Given the description of an element on the screen output the (x, y) to click on. 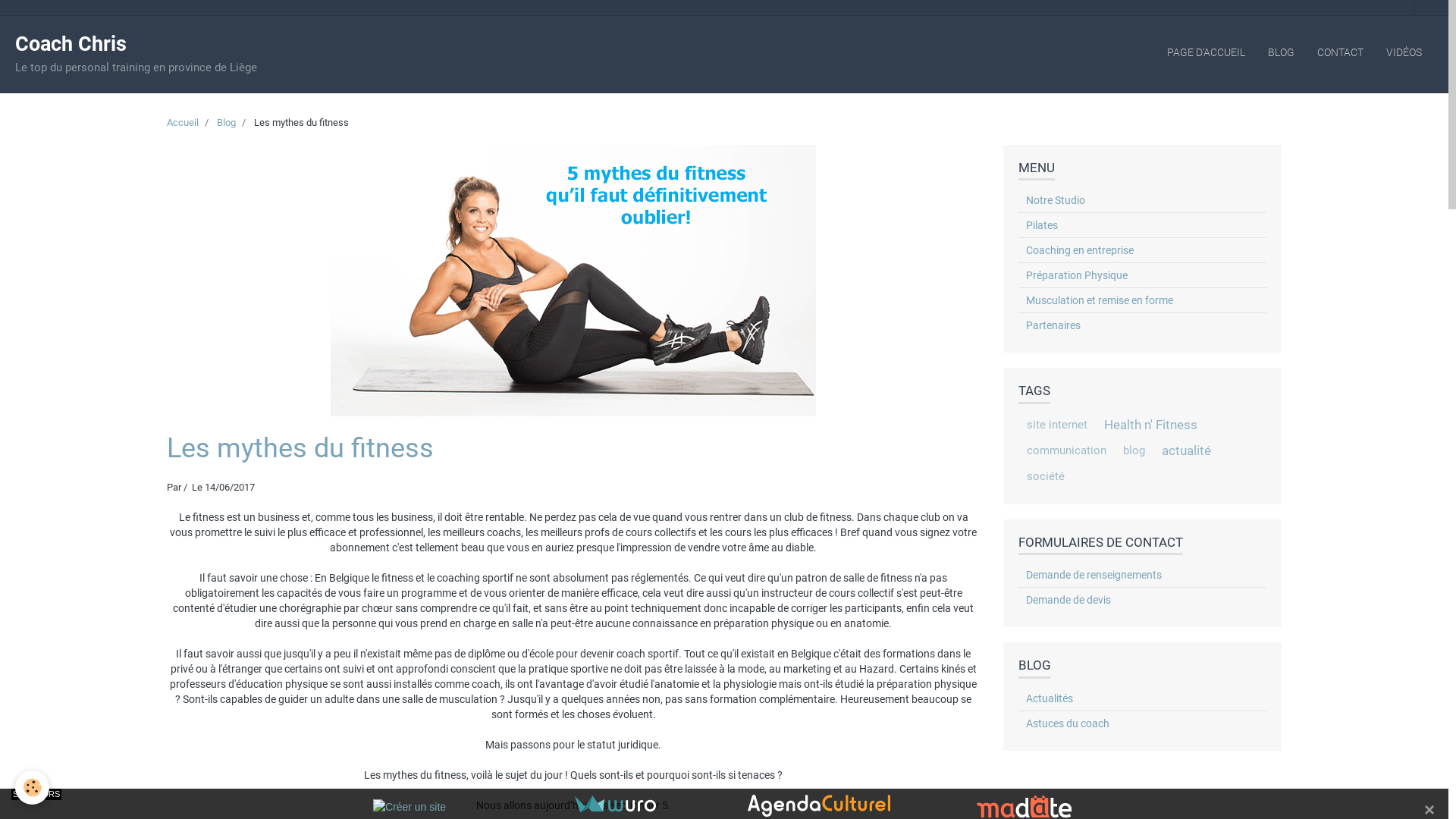
Demande de renseignements Element type: text (1141, 574)
Astuces du coach Element type: text (1141, 723)
Accueil Element type: text (182, 122)
Notre Studio Element type: text (1141, 200)
site internet Element type: text (1056, 424)
Musculation et remise en forme Element type: text (1141, 300)
PAGE D'ACCUEIL Element type: text (1205, 52)
Madate Element type: hover (1023, 805)
Coaching en entreprise Element type: text (1141, 250)
BLOG Element type: text (1280, 52)
Partenaires Element type: text (1141, 325)
communication Element type: text (1065, 450)
CONTACT Element type: text (1339, 52)
blog Element type: text (1133, 450)
Blog Element type: text (225, 122)
Health n' Fitness Element type: text (1149, 424)
Agenda Culturel Element type: hover (818, 805)
Demande de devis Element type: text (1141, 599)
Pilates Element type: text (1141, 225)
